Given the description of an element on the screen output the (x, y) to click on. 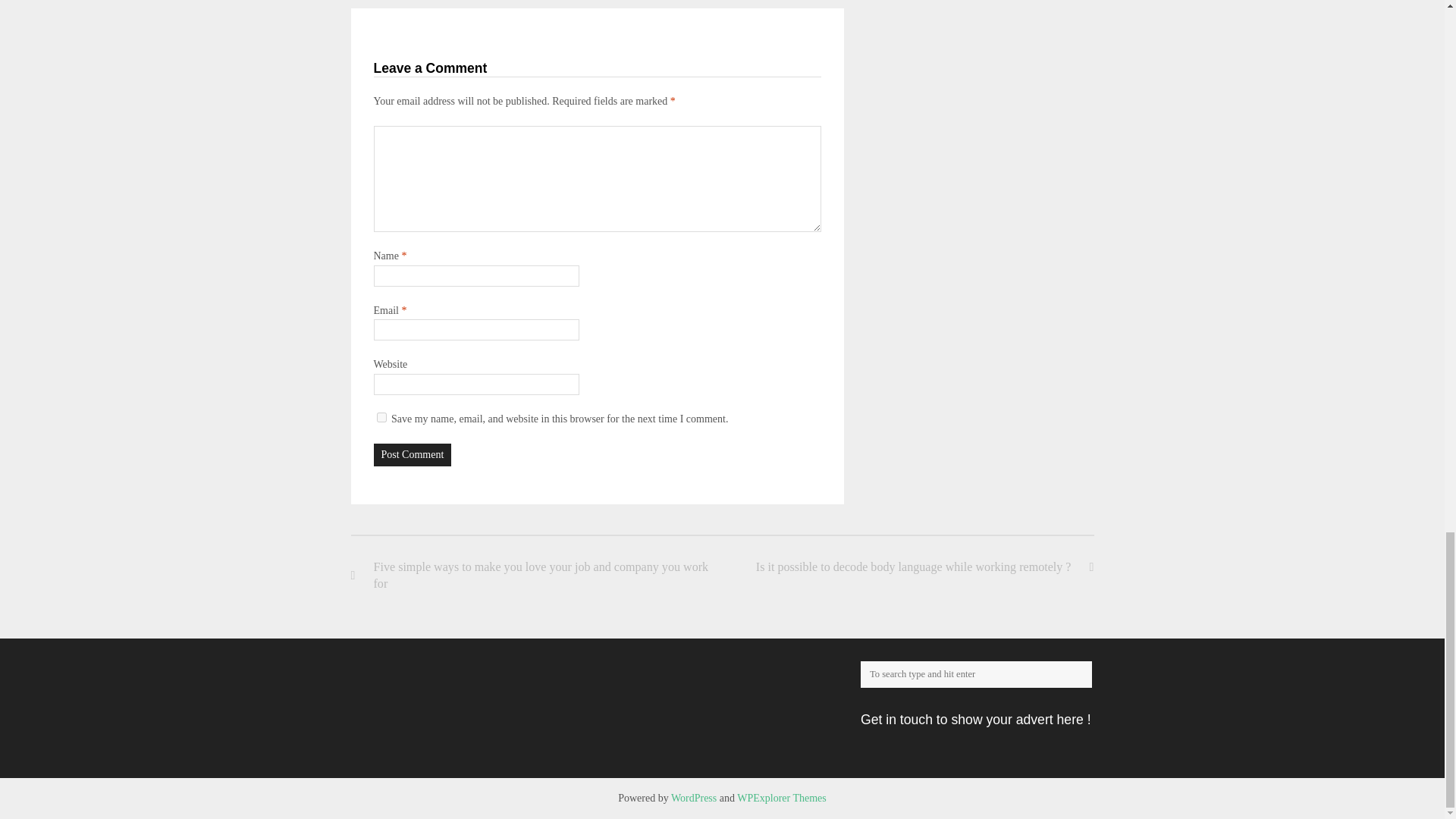
yes (380, 417)
WordPress (693, 797)
Post Comment (411, 454)
WordPress (693, 797)
WPExplorer Themes (781, 797)
WPExplorer (781, 797)
Post Comment (411, 454)
